Given the description of an element on the screen output the (x, y) to click on. 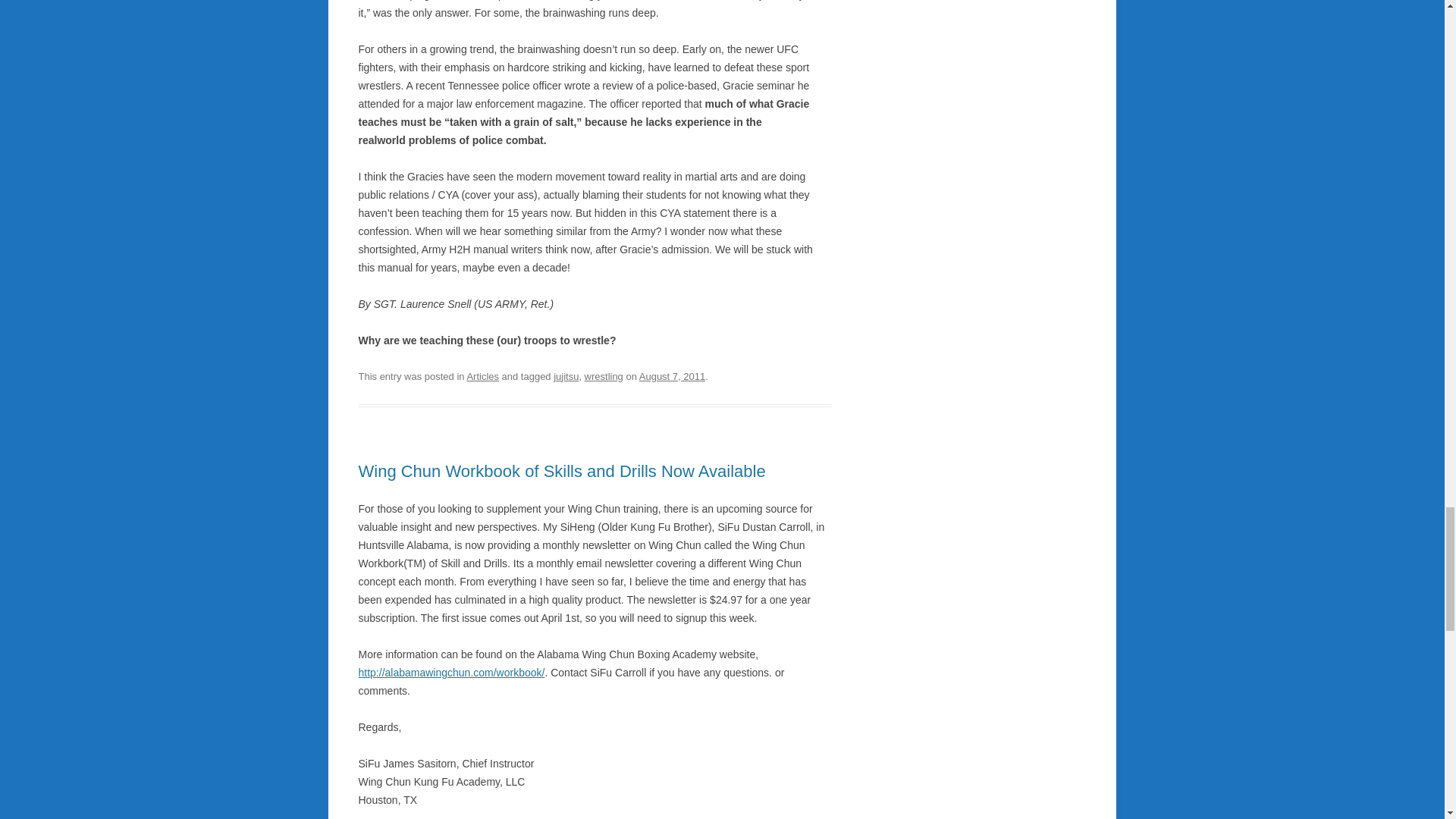
jujitsu (565, 376)
Wing Chun Workbook of Skills and Drills Now Available (561, 470)
August 7, 2011 (671, 376)
Articles (482, 376)
wrestling (604, 376)
11:16 pm (671, 376)
